Given the description of an element on the screen output the (x, y) to click on. 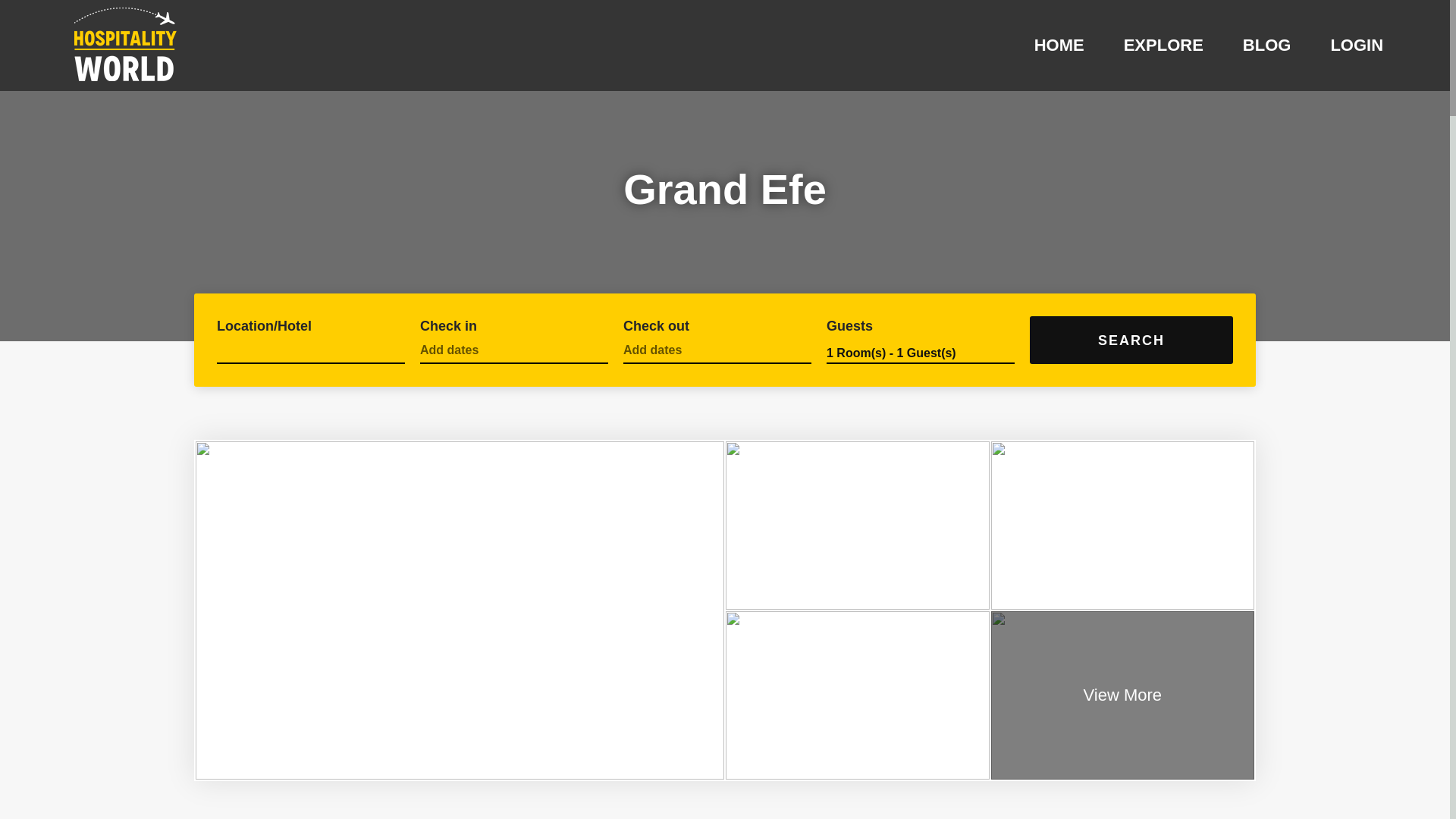
Search (1131, 339)
Search (1131, 339)
